Given the description of an element on the screen output the (x, y) to click on. 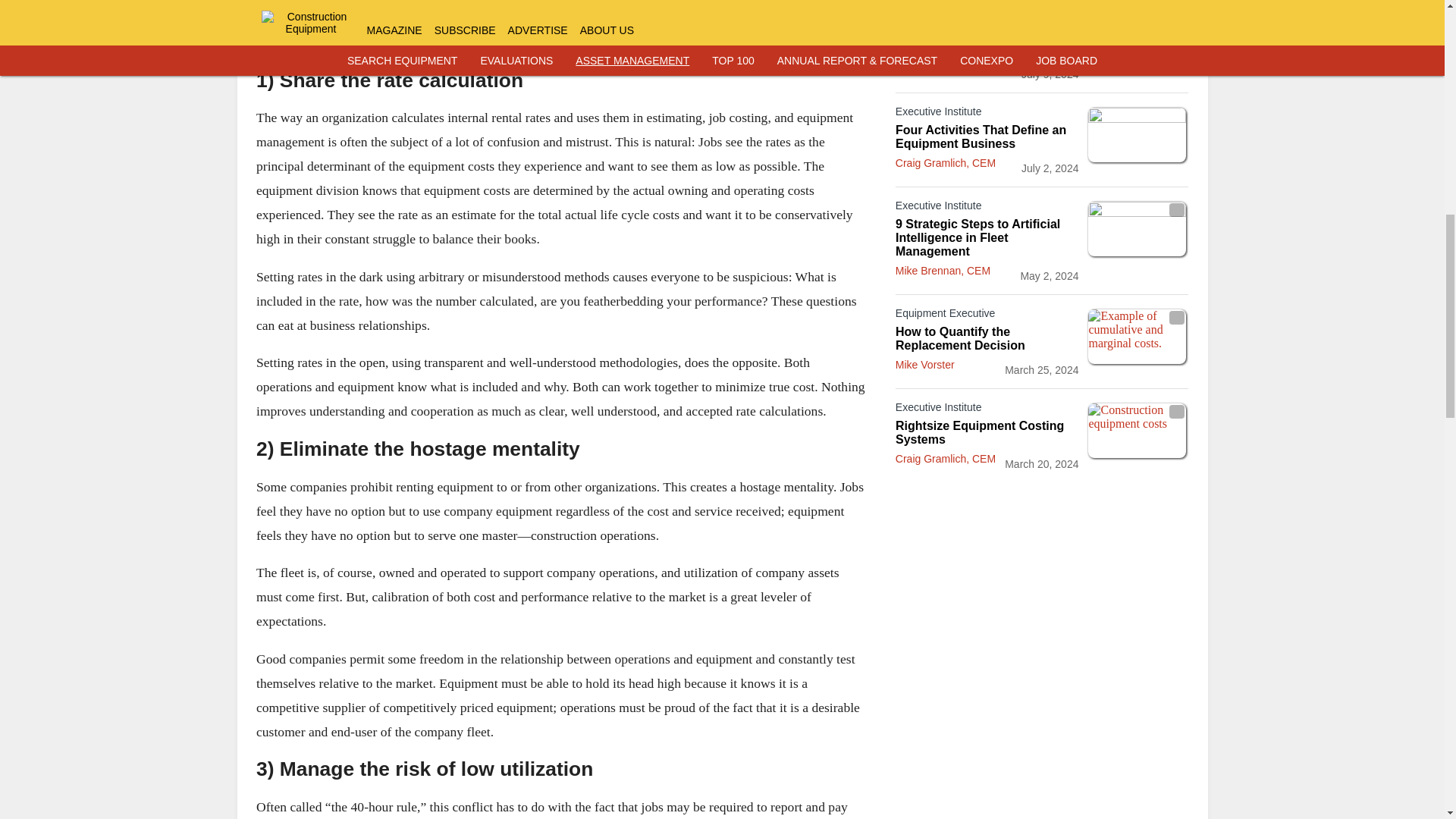
Executive Institute (986, 410)
Executive Institute (986, 114)
How to Quantify the Replacement Decision (986, 338)
Four Activities That Define an Equipment Business (986, 136)
Craig Gramlich, CEM (945, 69)
Equipment Executive (986, 316)
Construction equipment costs (1136, 430)
Executive Institute (986, 208)
Mike Vorster (925, 364)
Mike Brennan, CEM (942, 270)
